Given the description of an element on the screen output the (x, y) to click on. 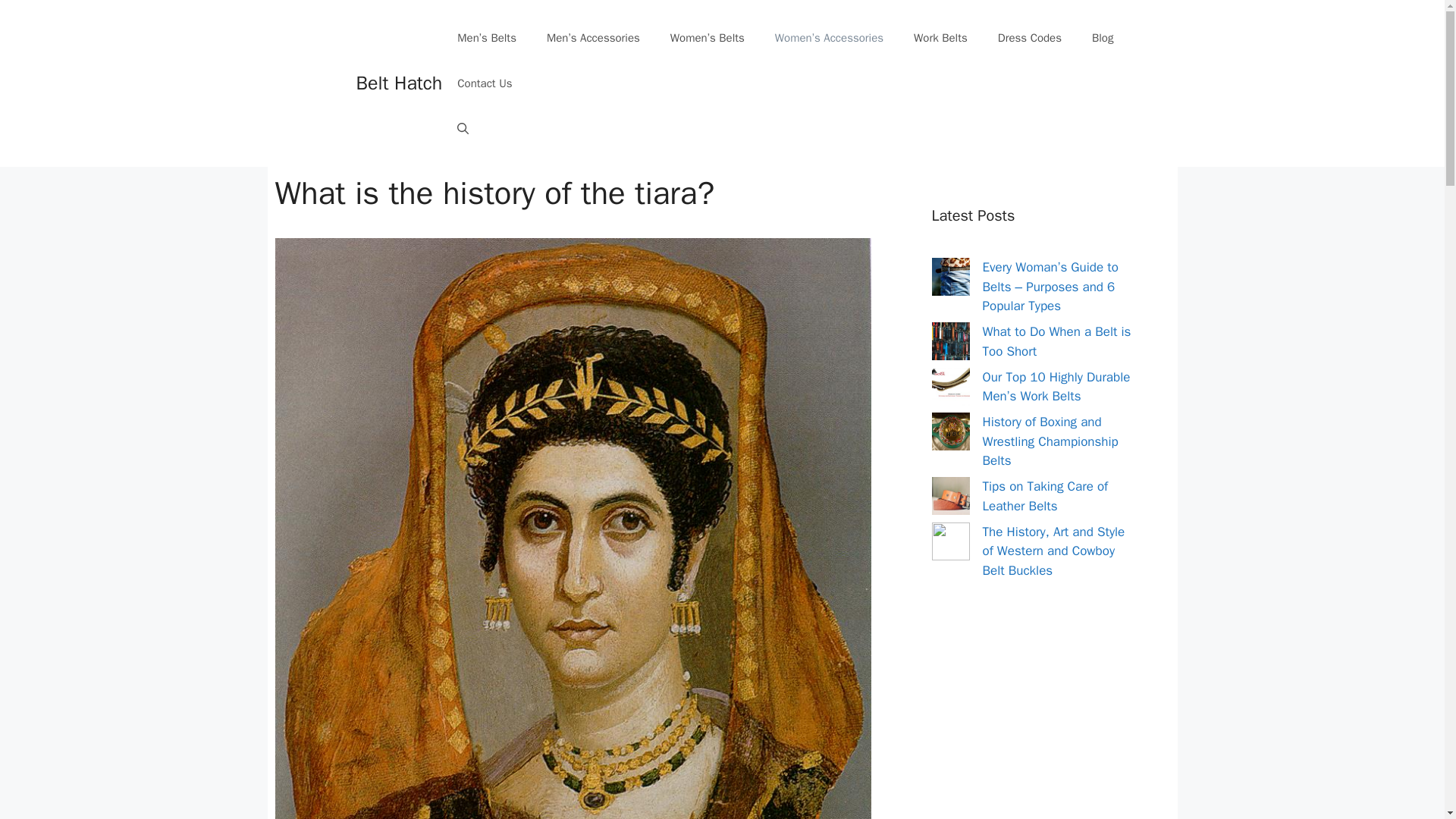
History of Boxing and Wrestling Championship Belts (1050, 441)
Dress Codes (1029, 37)
Work Belts (940, 37)
Blog (1102, 37)
Contact Us (484, 83)
What to Do When a Belt is Too Short (1056, 341)
Belt Hatch (399, 83)
Tips on Taking Care of Leather Belts (1045, 496)
